Given the description of an element on the screen output the (x, y) to click on. 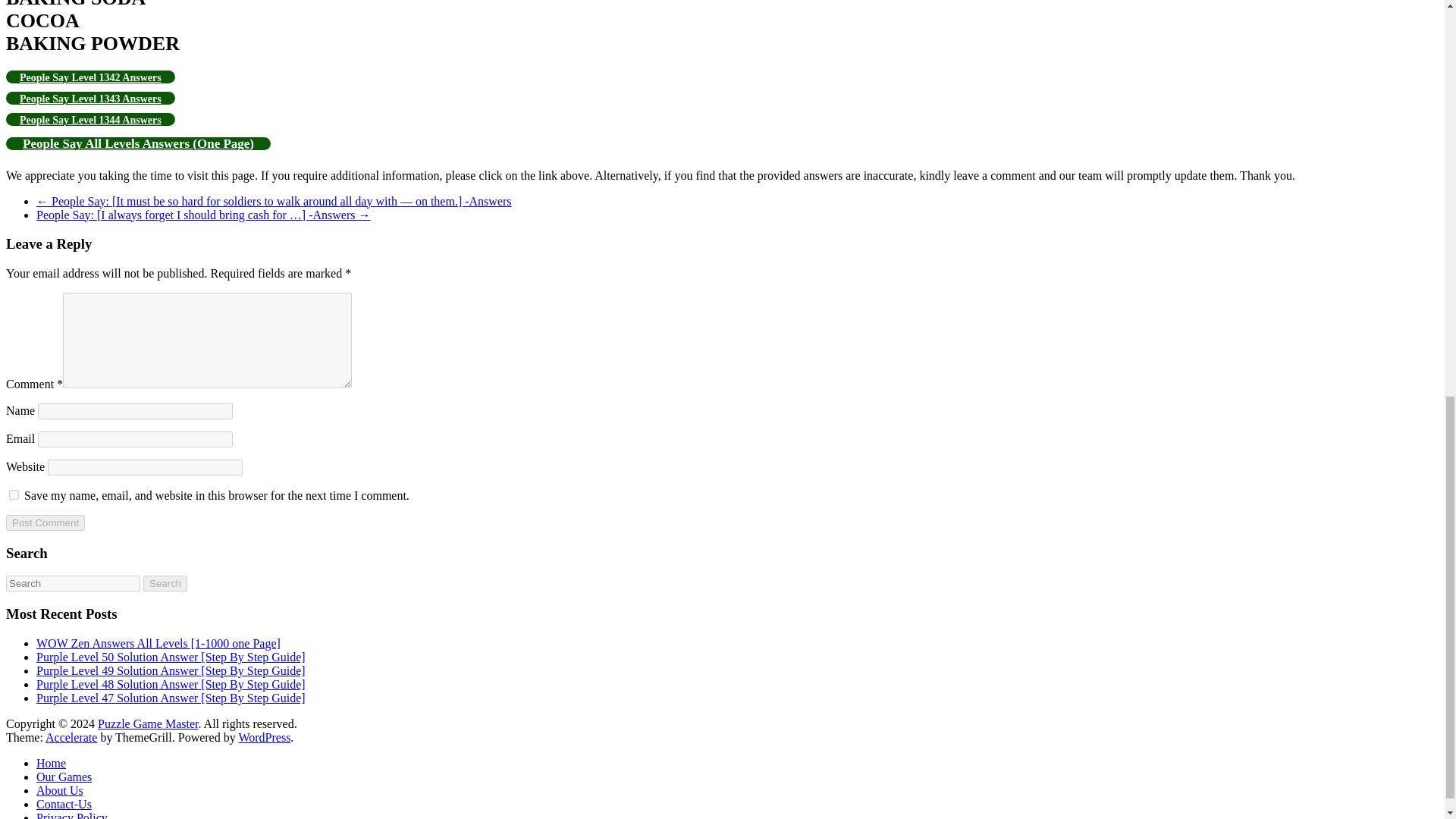
People Say Level 1343 Answers (89, 97)
People Say Level 1342 Answers (89, 75)
Puzzle Game Master (147, 723)
People Say Level 1344 Answers (89, 118)
Post Comment (44, 522)
WordPress (263, 737)
Accelerate (71, 737)
Contact-Us (63, 803)
Search (164, 583)
Accelerate (71, 737)
yes (13, 494)
About Us (59, 789)
Puzzle Game Master (147, 723)
Search (164, 583)
Our Games (63, 776)
